Given the description of an element on the screen output the (x, y) to click on. 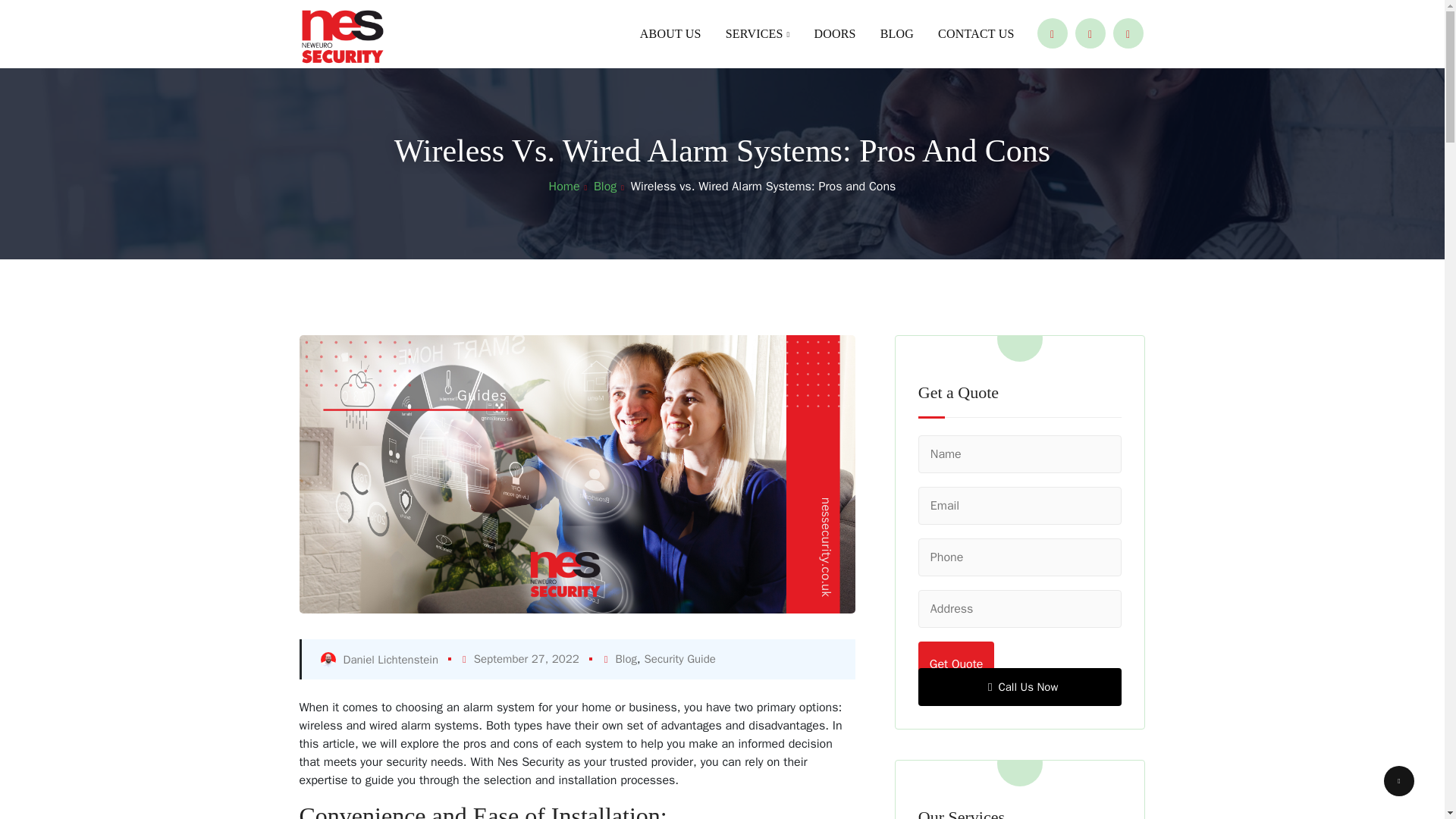
DOORS (834, 33)
NES Security (342, 38)
BLOG (896, 33)
Home (569, 186)
NES Security (342, 38)
Get Quote (956, 660)
CONTACT US (969, 33)
ABOUT US (676, 33)
SERVICES (757, 34)
